Given the description of an element on the screen output the (x, y) to click on. 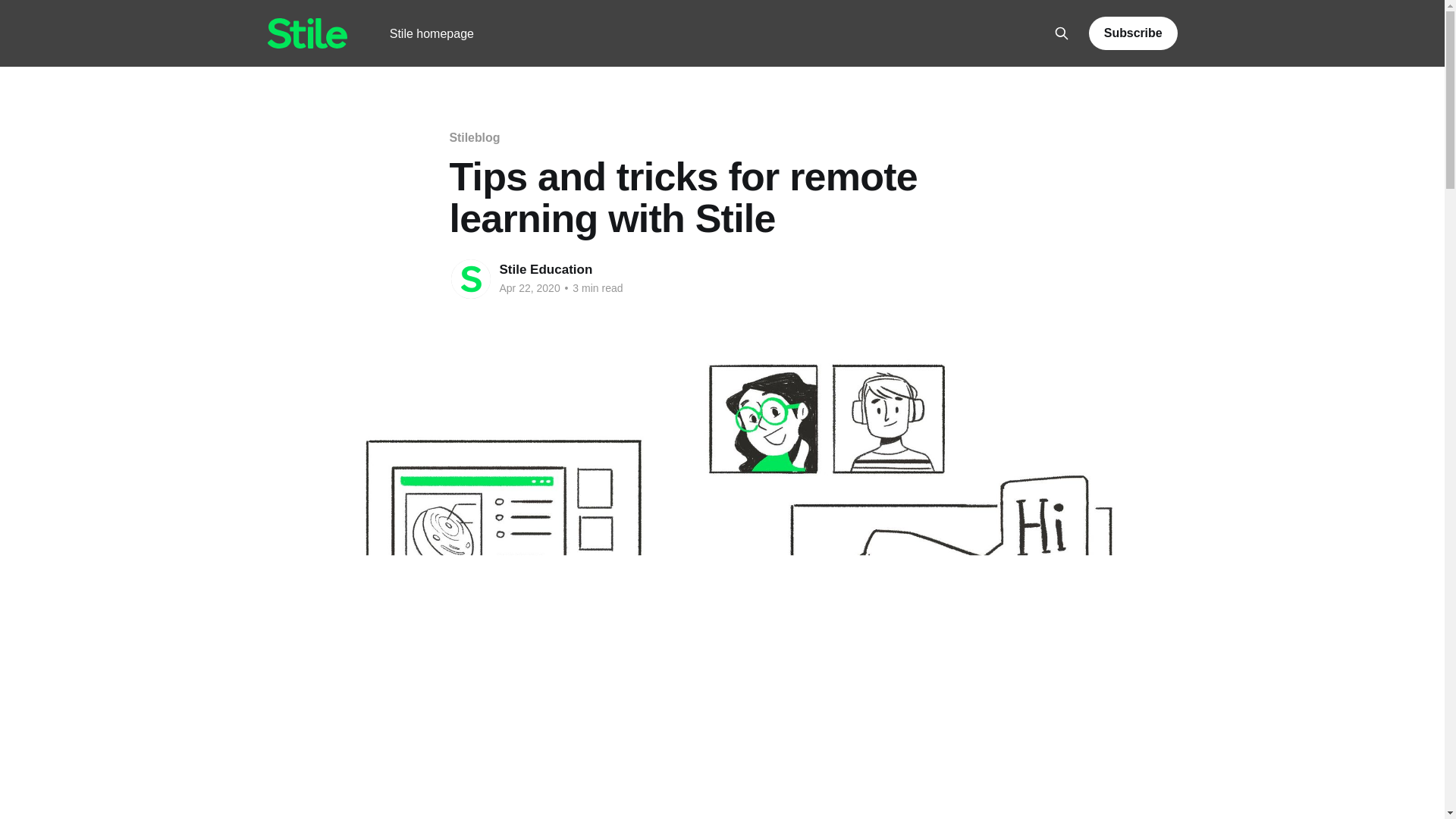
Subscribe (1133, 32)
Stile Education (545, 269)
Stile homepage (432, 33)
Stileblog (473, 137)
